Given the description of an element on the screen output the (x, y) to click on. 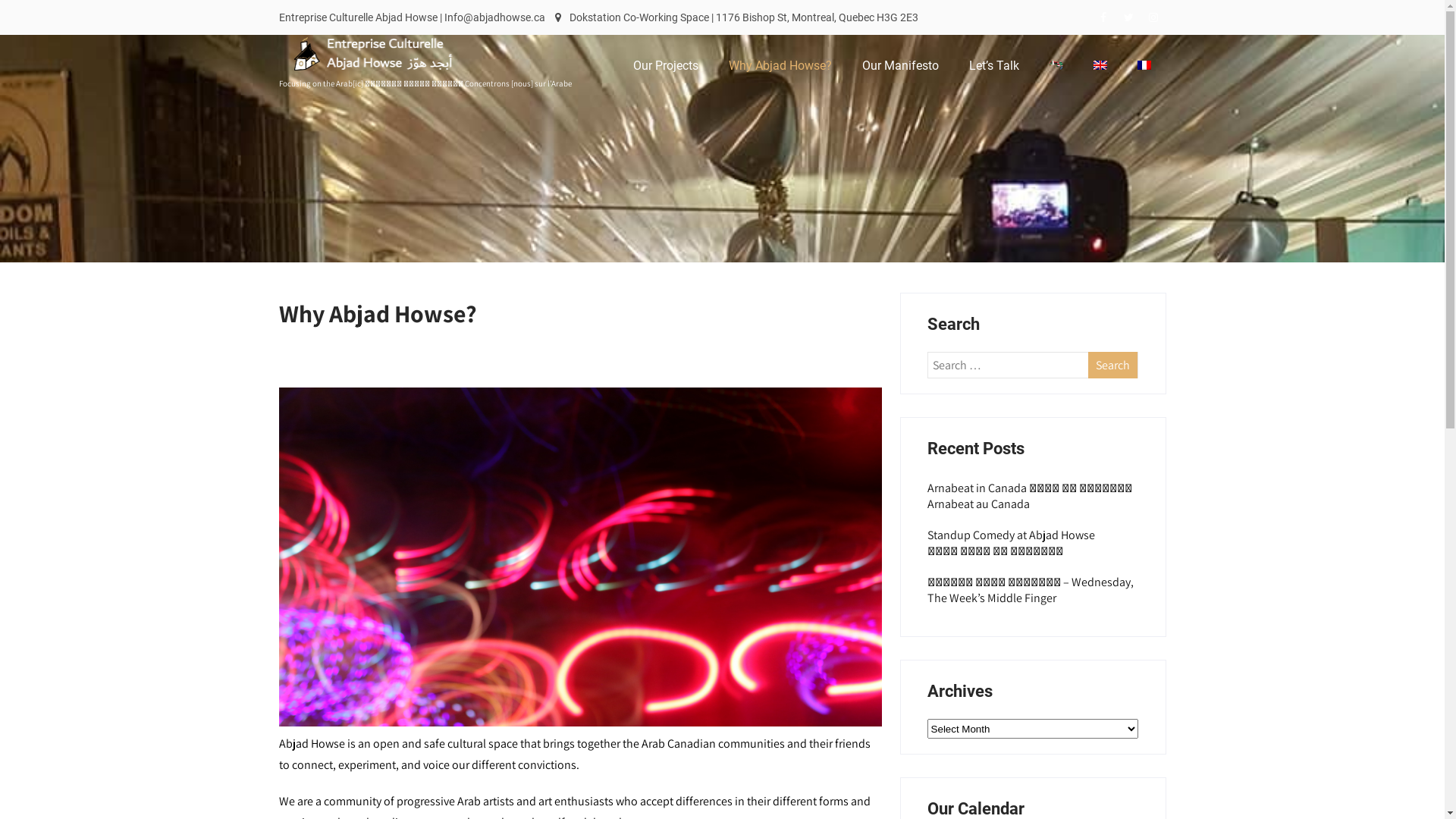
Entreprise Culturelle Abjad Howse Element type: hover (385, 75)
instagram Element type: hover (1152, 17)
Our Manifesto Element type: text (899, 65)
Why Abjad Howse? Element type: text (779, 65)
Search Element type: text (1112, 364)
twitter Element type: hover (1128, 17)
facebook Element type: hover (1102, 17)
Our Projects Element type: text (664, 65)
